Given the description of an element on the screen output the (x, y) to click on. 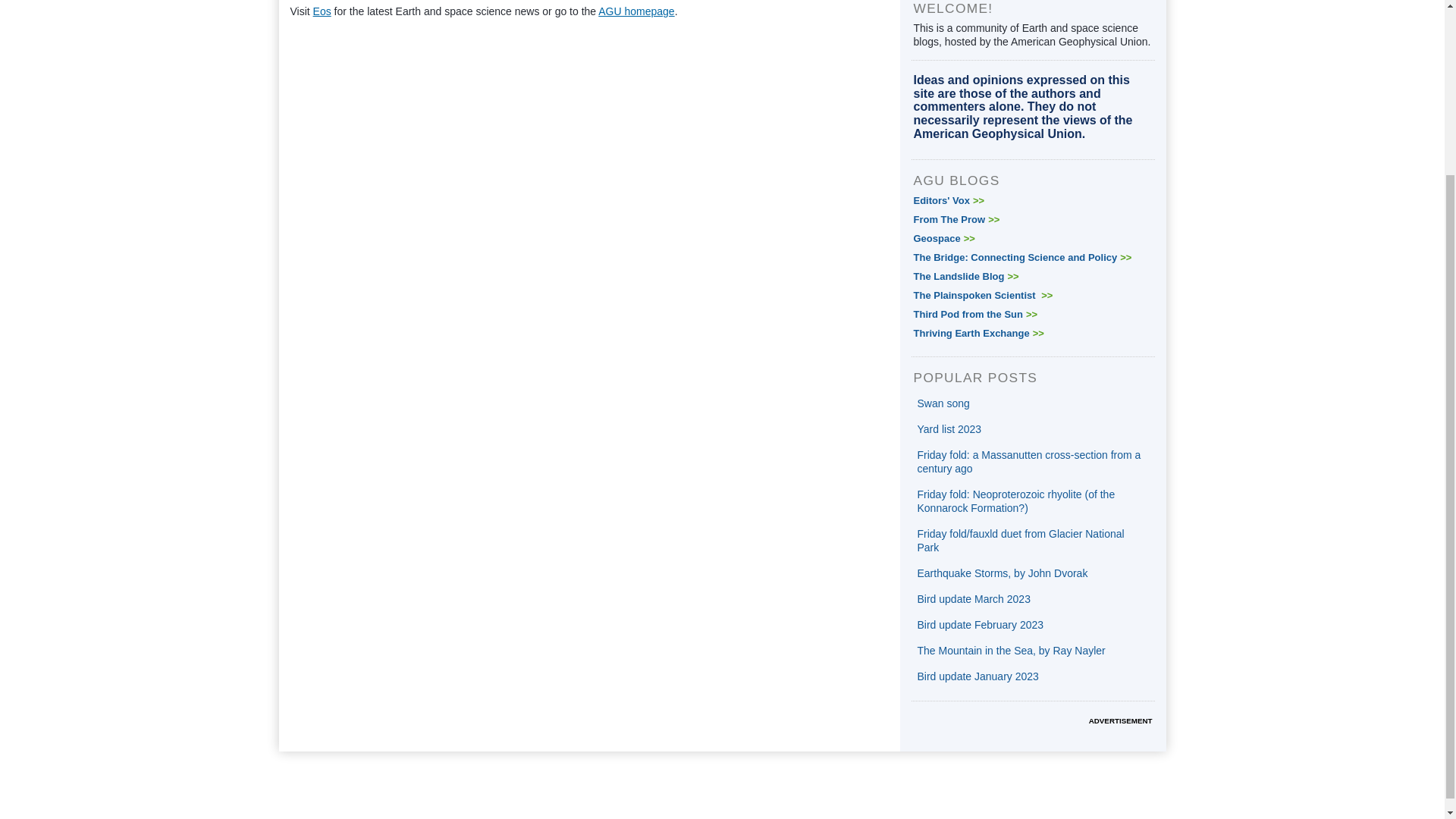
Terms of Use (1054, 772)
Friday fold: a Massanutten cross-section from a century ago (1029, 461)
Privacy Policy (1134, 772)
Bird update February 2023 (980, 624)
Bird update January 2023 (978, 676)
AGU homepage (636, 10)
Swan song (943, 403)
Bird update February 2023 (980, 624)
Eos (322, 10)
Bird update January 2023 (978, 676)
